Given the description of an element on the screen output the (x, y) to click on. 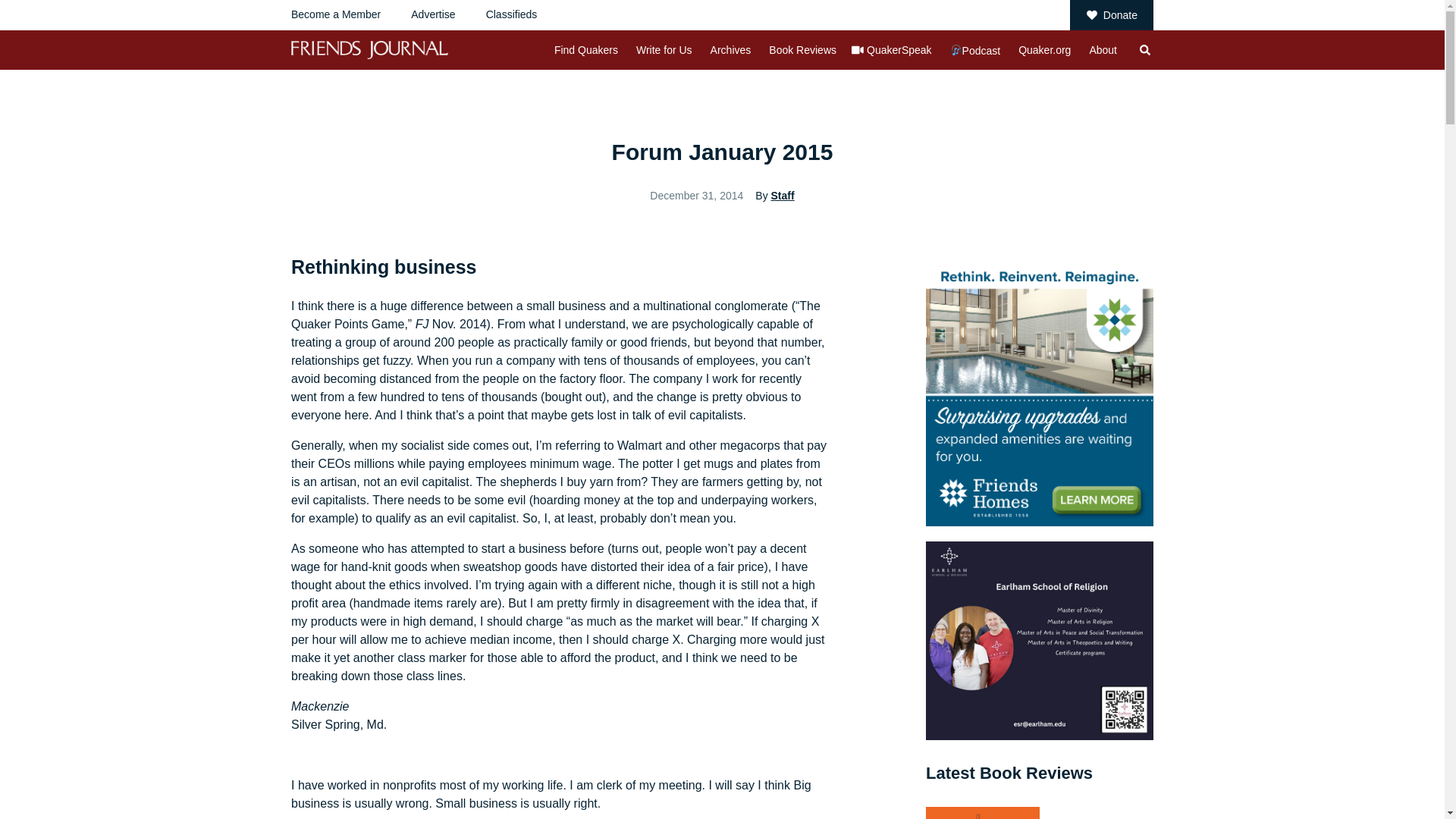
Become a Member (335, 14)
Podcast (975, 50)
QuakerSpeak (898, 50)
Donate (1111, 15)
Find Quakers (585, 50)
Classifieds (511, 14)
Book Reviews (801, 50)
Staff (782, 195)
Write for Us (664, 50)
Archives (730, 50)
Advertise (432, 14)
Latest Book Reviews (1009, 772)
About (1102, 50)
Quaker.org (1043, 50)
